Given the description of an element on the screen output the (x, y) to click on. 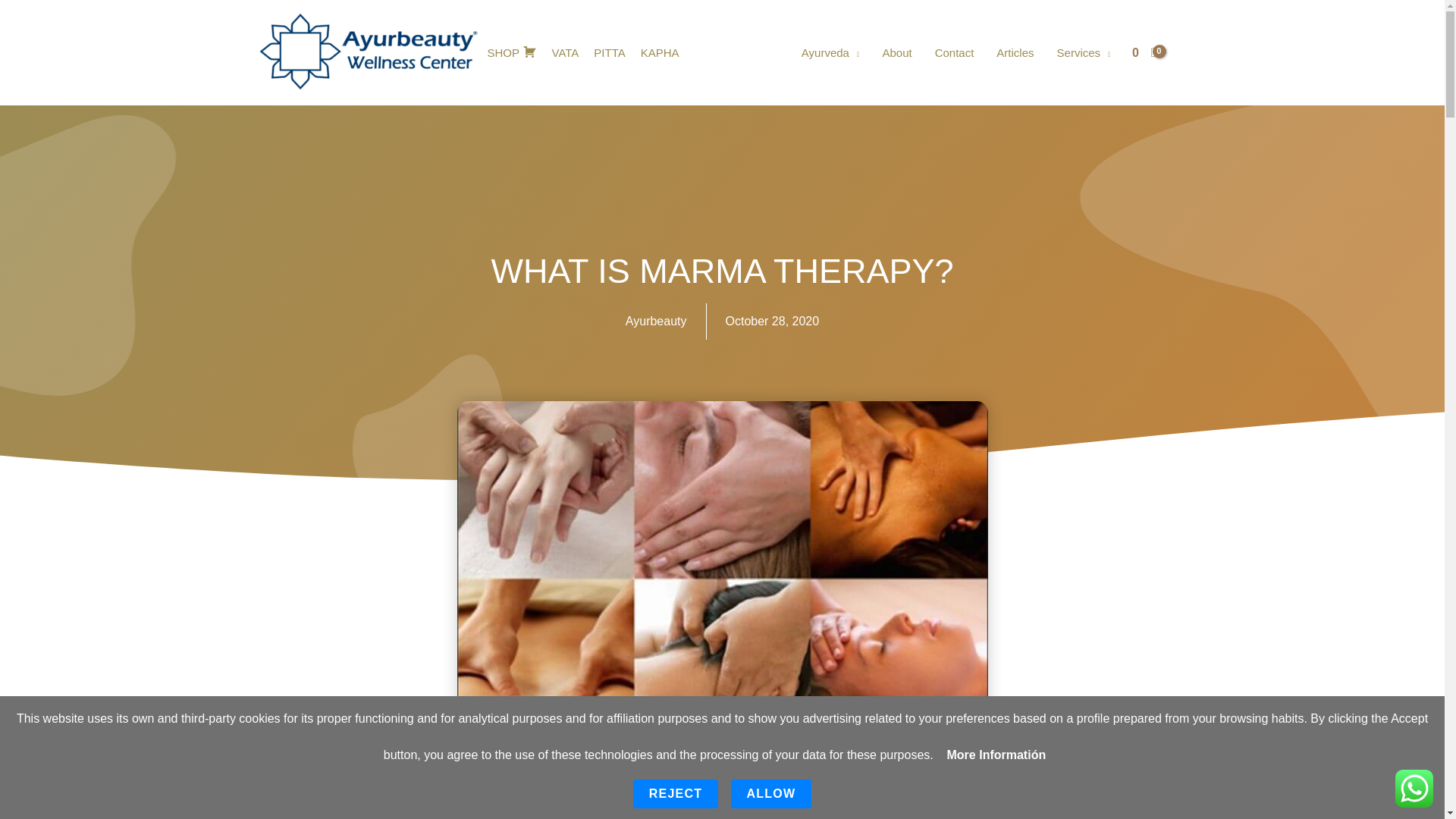
Ayurbeauty (656, 321)
Services (1083, 51)
SHOP (511, 51)
Articles (1015, 51)
KAPHA (660, 51)
Ayurveda (830, 51)
Contact (954, 51)
About (896, 51)
PITTA (608, 51)
October 28, 2020 (771, 321)
